Given the description of an element on the screen output the (x, y) to click on. 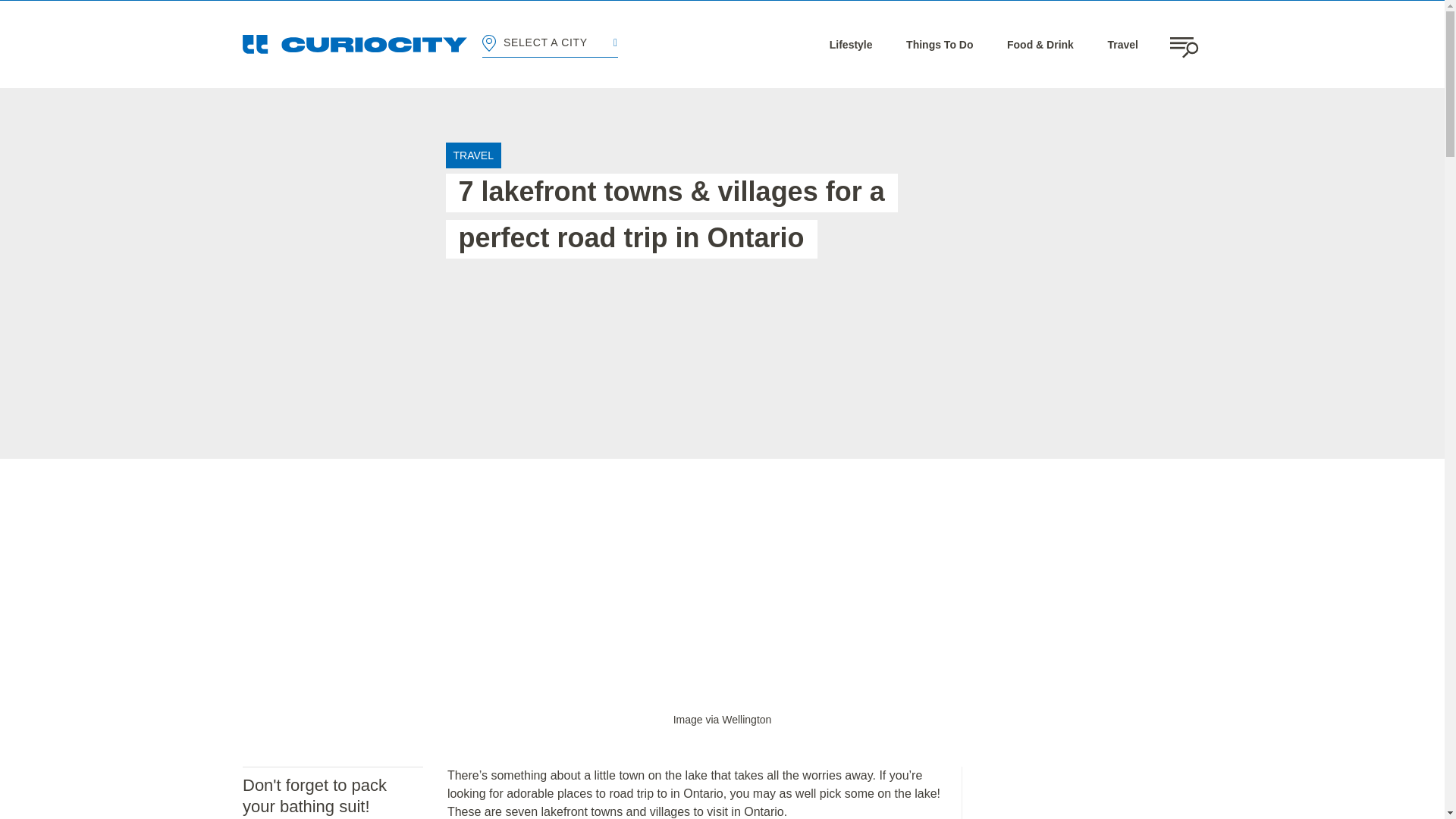
Things To Do (938, 44)
goes to Home (355, 43)
Travel (1121, 44)
SELECT A CITY (549, 44)
Lifestyle (850, 44)
opens in a new tab (721, 719)
curiocity-primary-logo-blue  (355, 44)
